Given the description of an element on the screen output the (x, y) to click on. 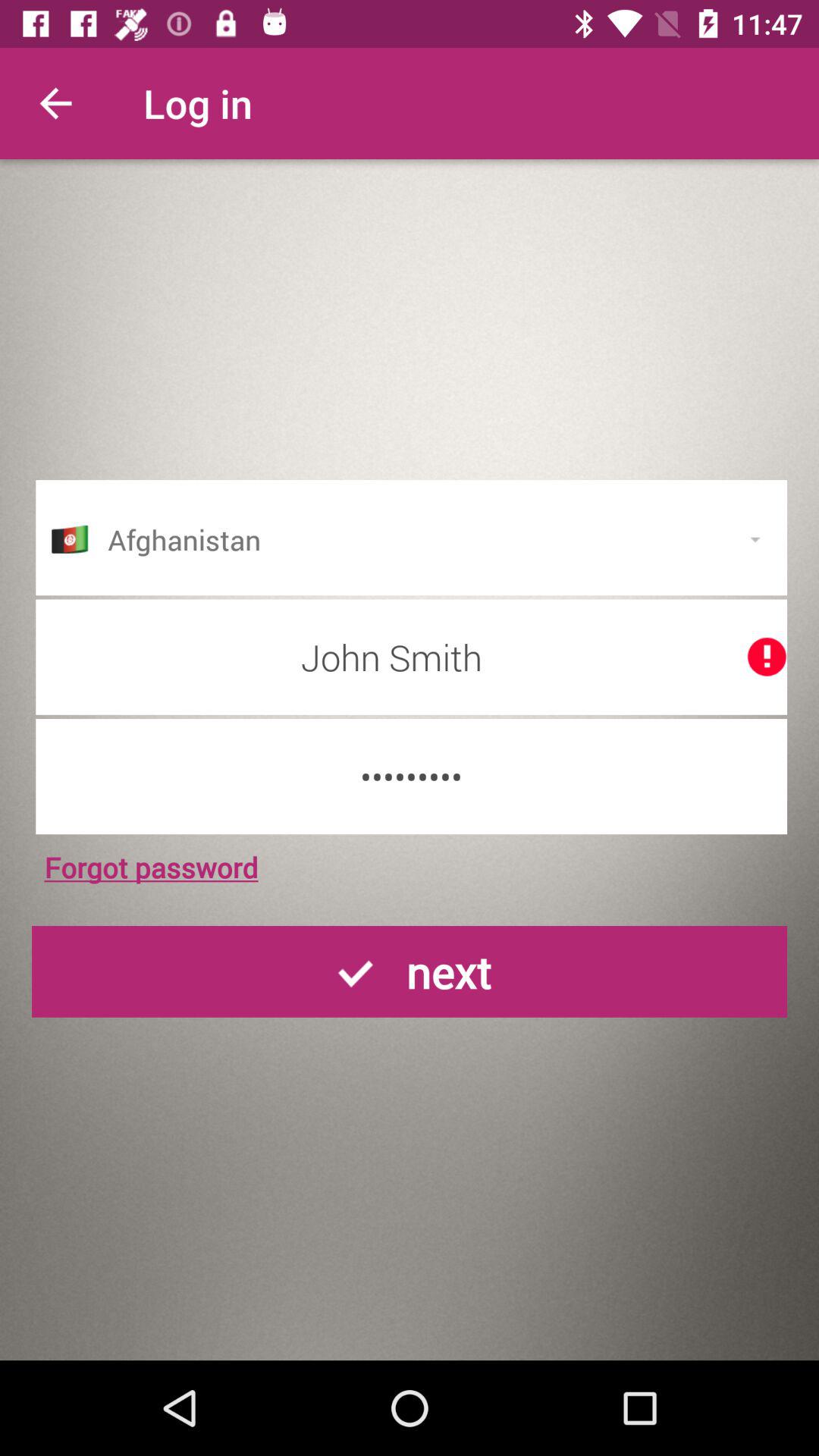
press the icon below john smith item (411, 776)
